Given the description of an element on the screen output the (x, y) to click on. 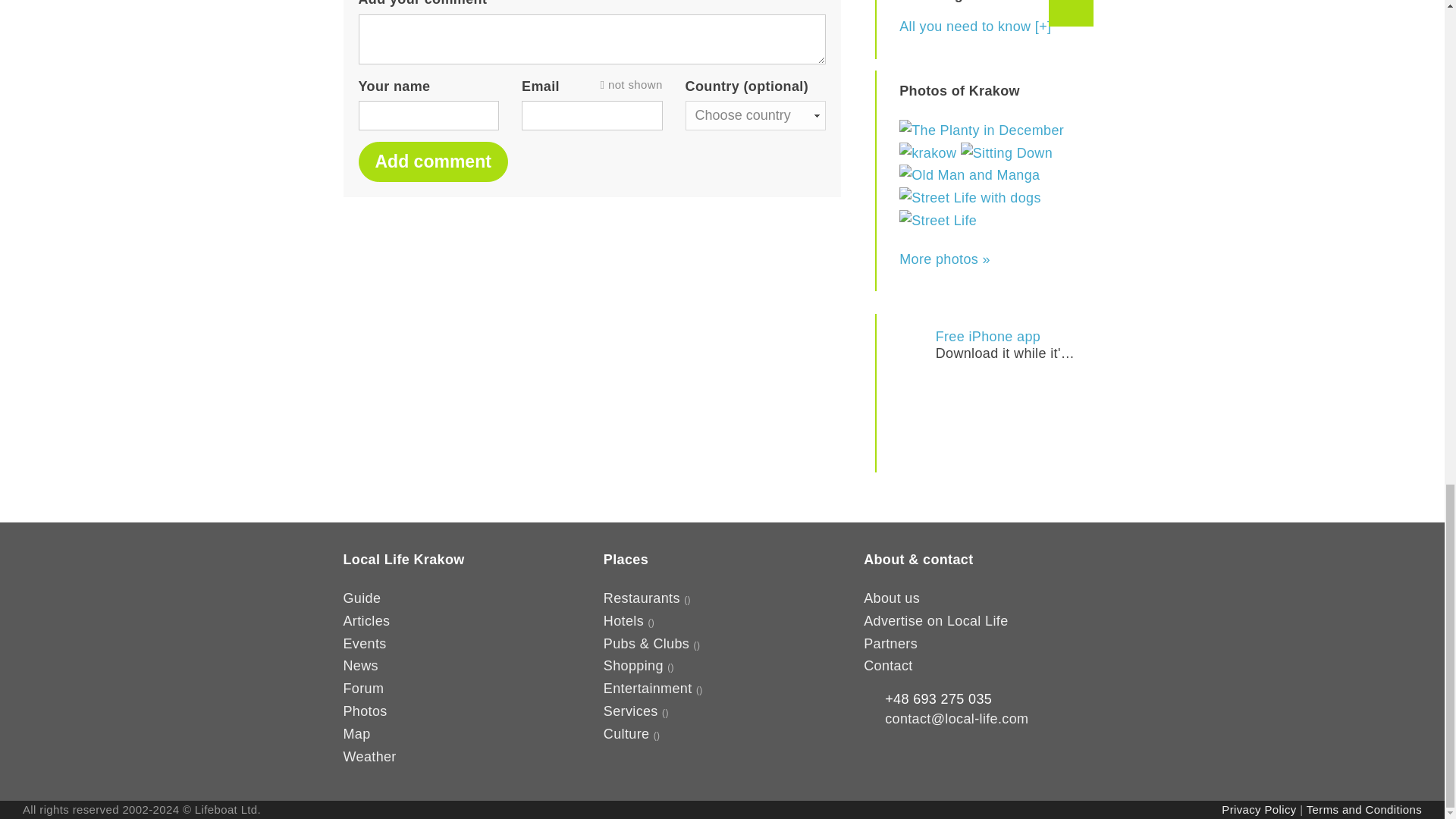
Guide (361, 598)
Add comment (432, 161)
Add comment (988, 344)
Local Life Krakow (432, 161)
